Given the description of an element on the screen output the (x, y) to click on. 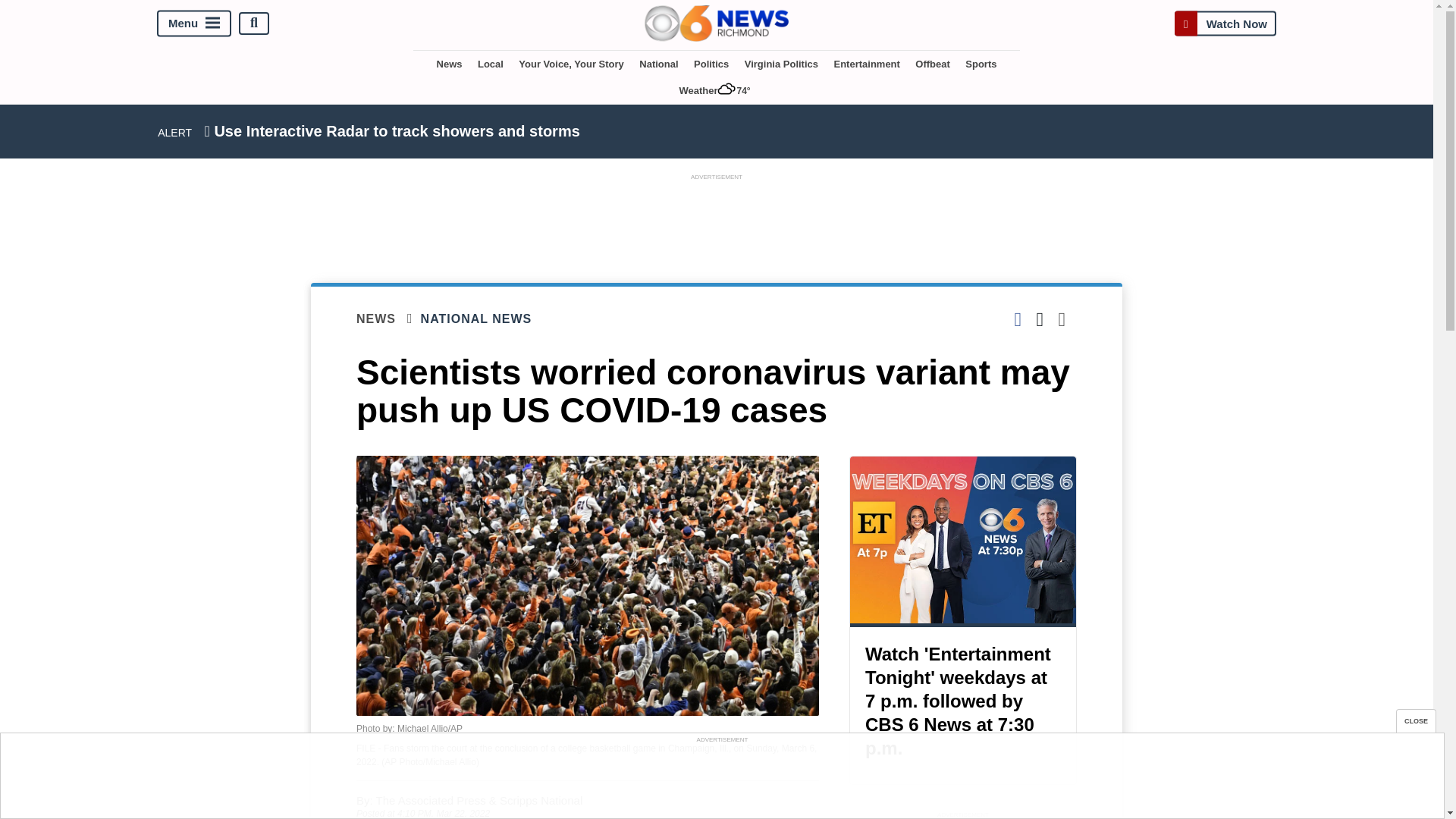
Menu (194, 22)
3rd party ad content (716, 217)
3rd party ad content (721, 780)
Watch Now (1224, 22)
